Given the description of an element on the screen output the (x, y) to click on. 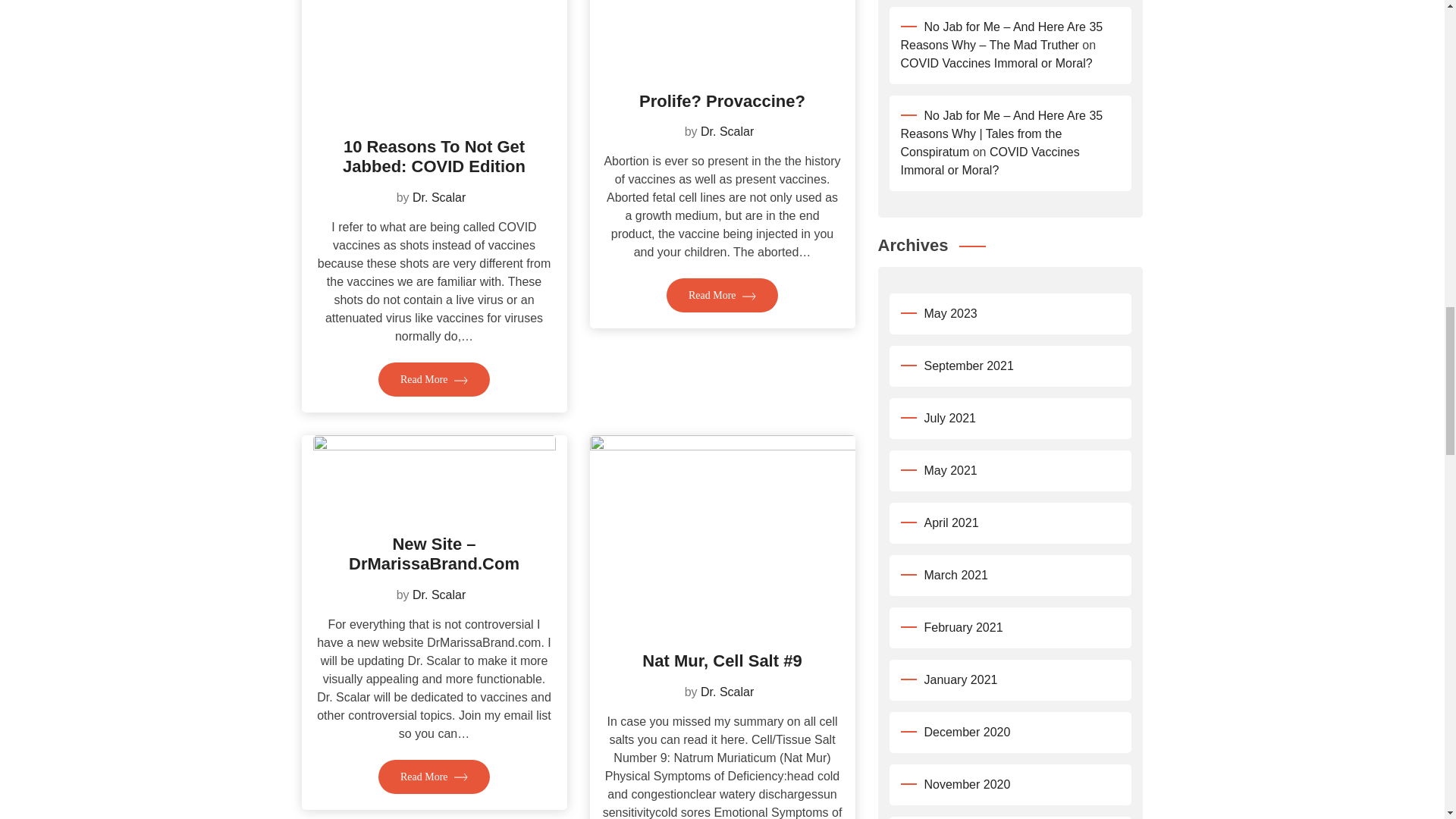
10 Reasons To Not Get Jabbed: COVID Edition (433, 156)
Read More (433, 379)
Dr. Scalar (438, 196)
